Given the description of an element on the screen output the (x, y) to click on. 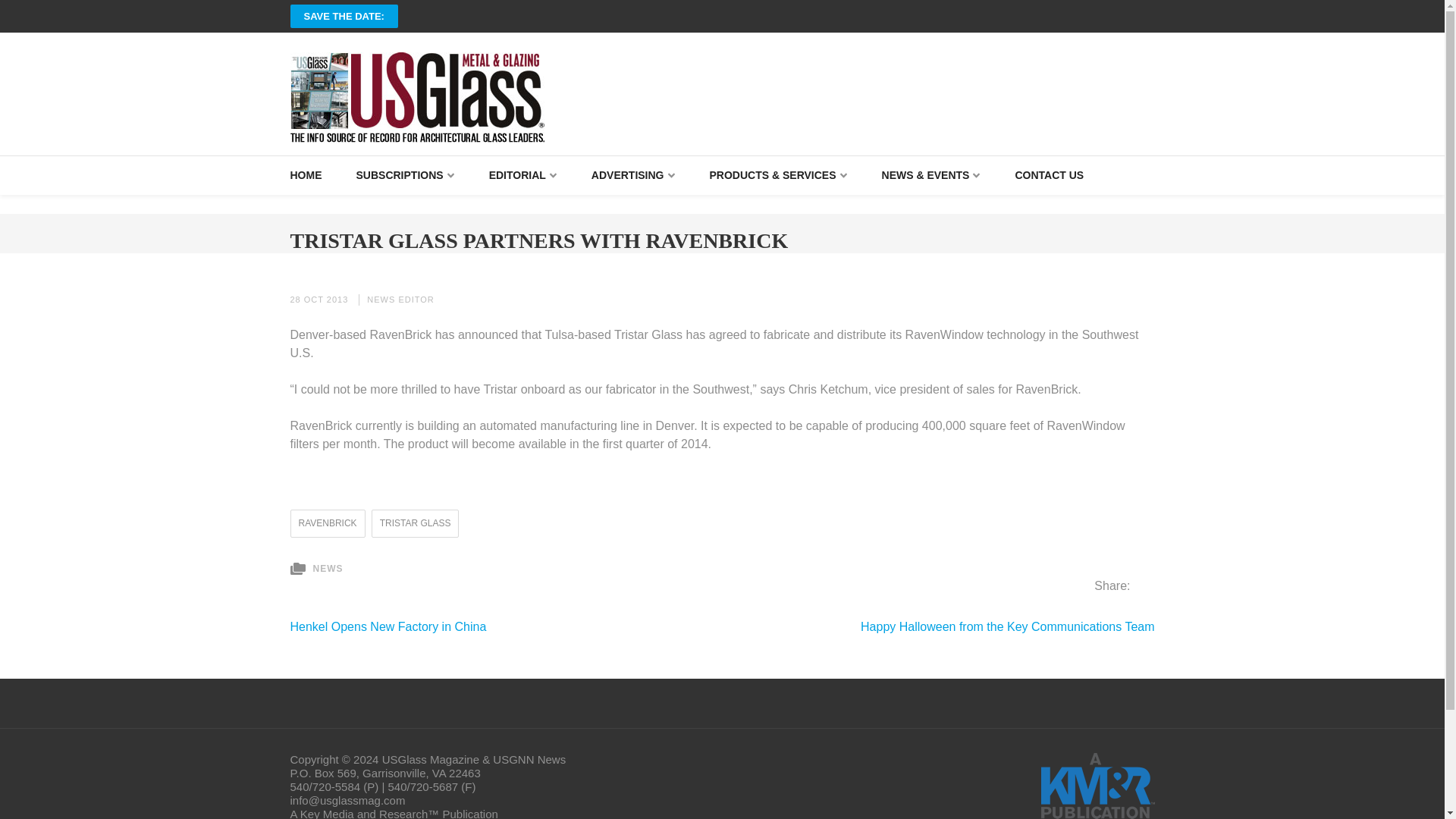
ADVERTISING (633, 175)
CONTACT US (1048, 175)
SUBSCRIPTIONS (405, 175)
EDITORIAL (523, 175)
SAVE THE DATE: (343, 15)
